Given the description of an element on the screen output the (x, y) to click on. 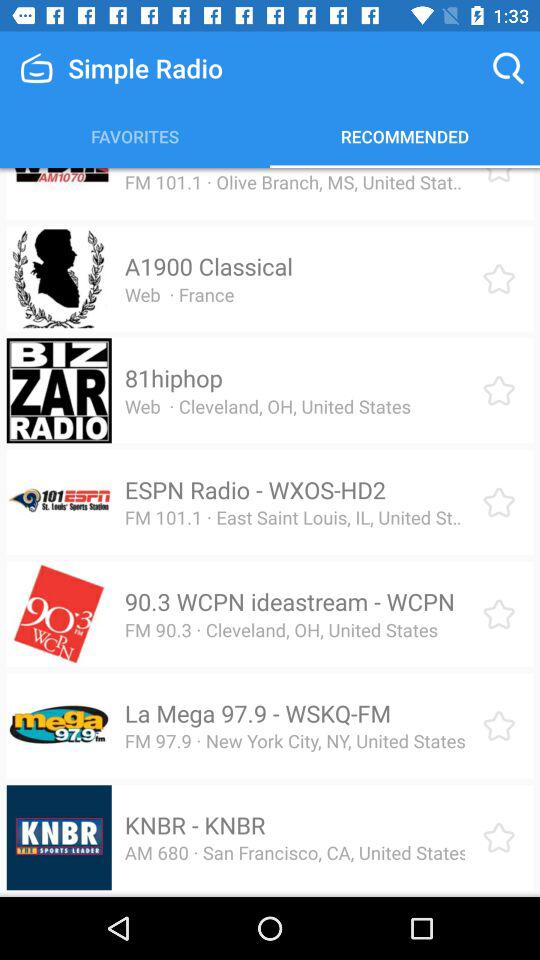
click the 1070 wdia kjms icon (249, 168)
